Given the description of an element on the screen output the (x, y) to click on. 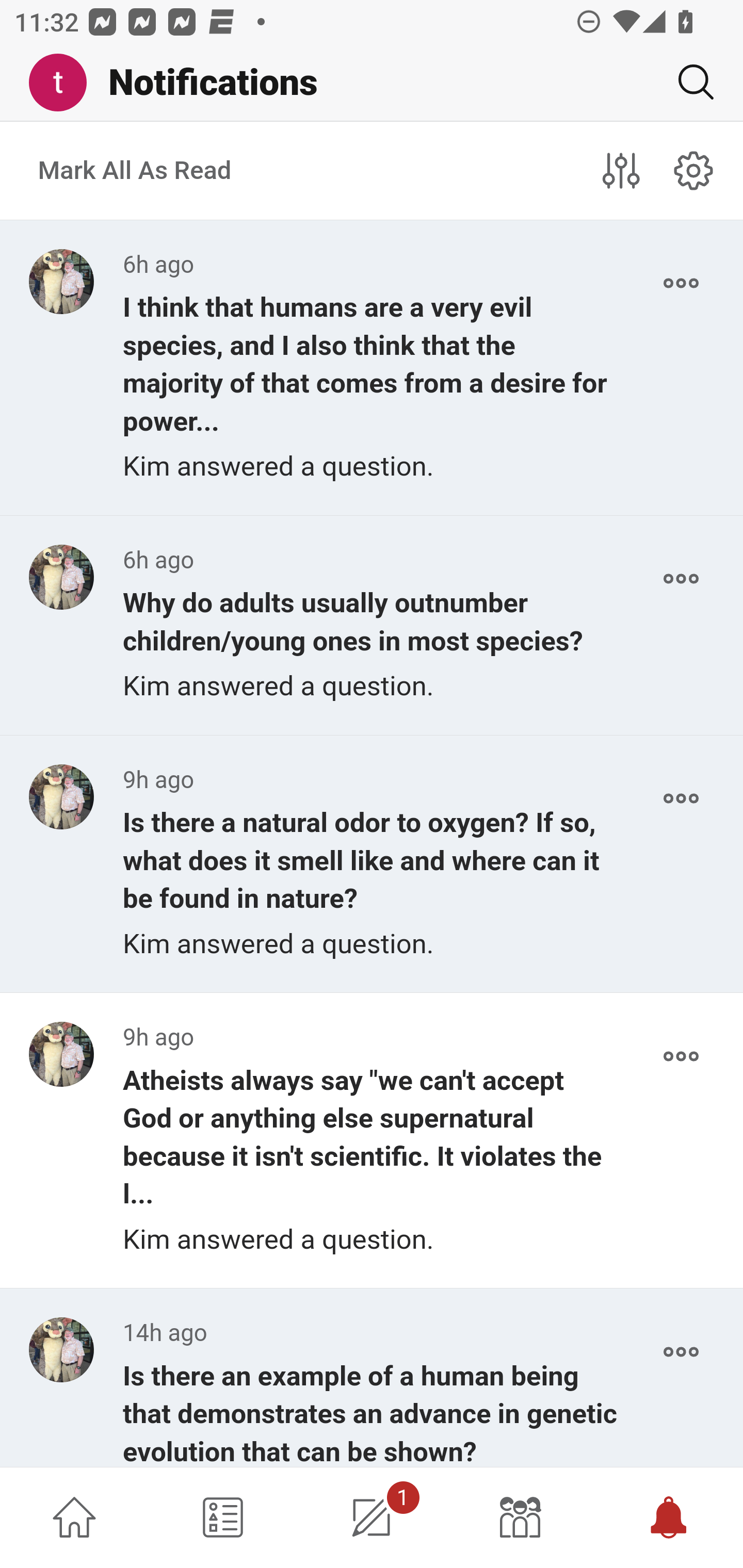
Me (64, 83)
Search (688, 82)
Mark All As Read (135, 171)
notifications# (693, 170)
More (681, 282)
More (681, 579)
More (681, 798)
More (681, 1055)
More (681, 1352)
1 (371, 1517)
